Given the description of an element on the screen output the (x, y) to click on. 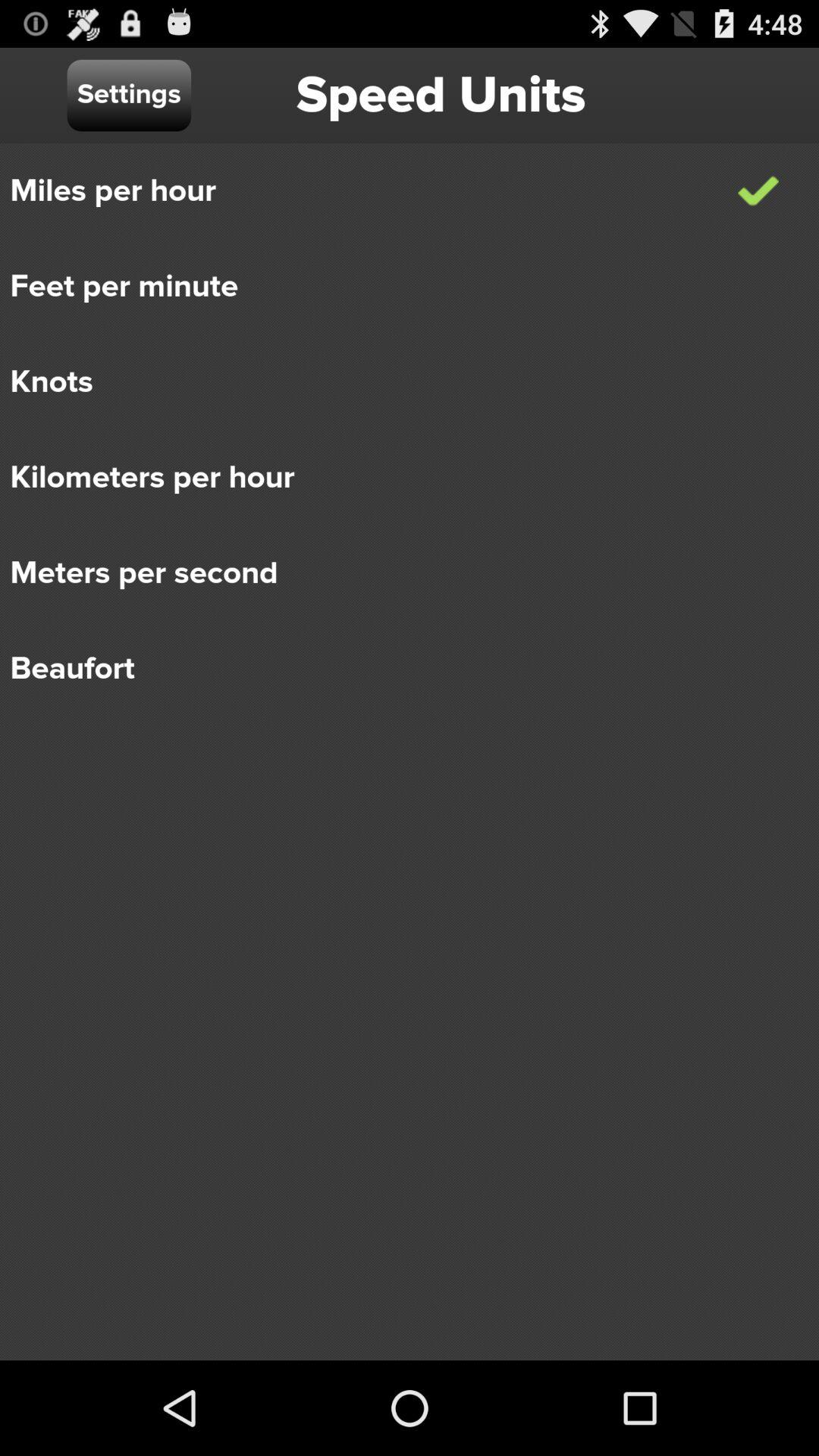
select icon to the left of speed units icon (129, 95)
